Given the description of an element on the screen output the (x, y) to click on. 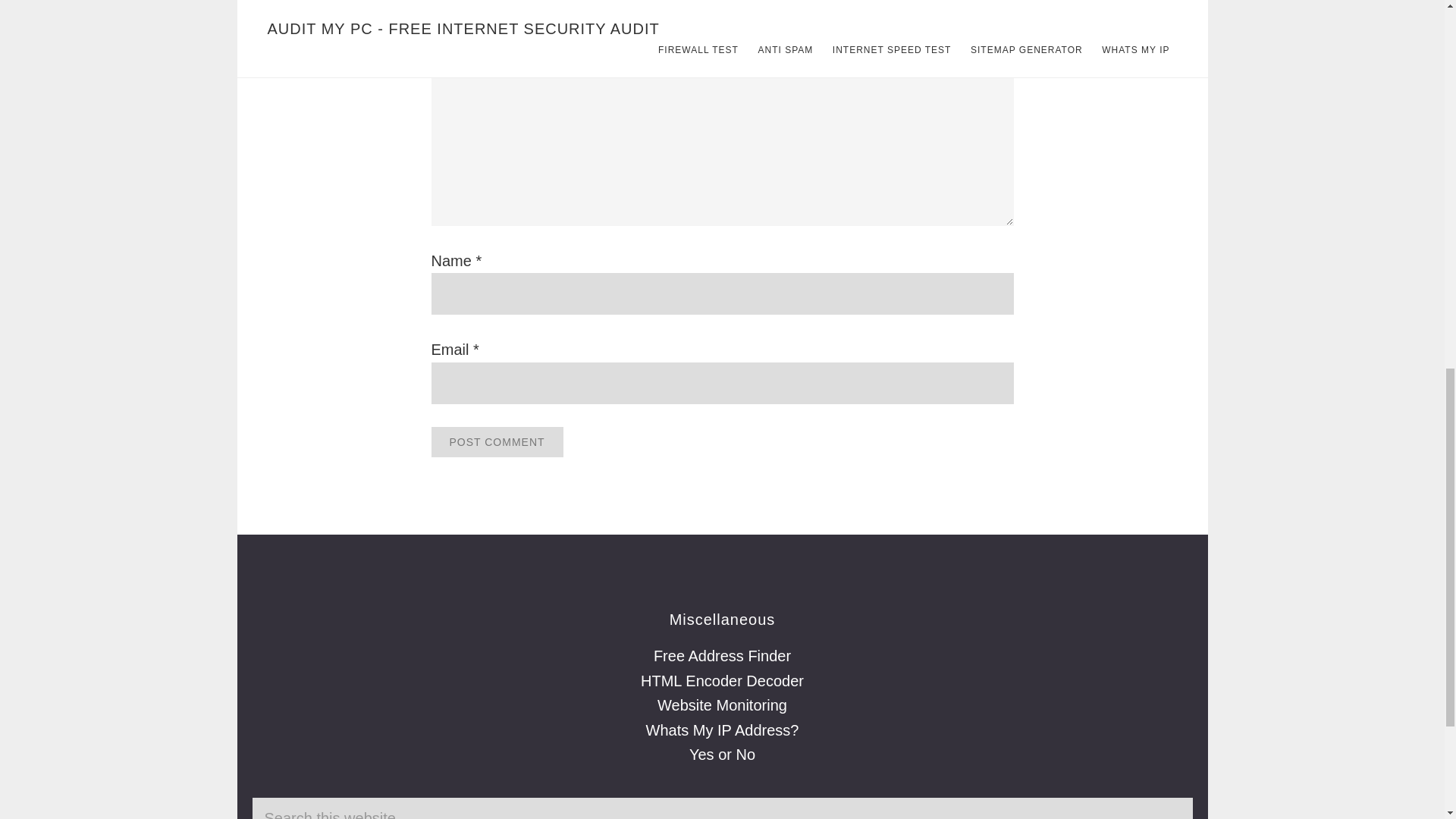
Free Address Finder (721, 655)
Whats My IP Address? (722, 729)
HTML Encoder Decoder (721, 680)
Post Comment (496, 441)
Yes or No (721, 754)
Website Monitoring (722, 704)
Post Comment (496, 441)
